Given the description of an element on the screen output the (x, y) to click on. 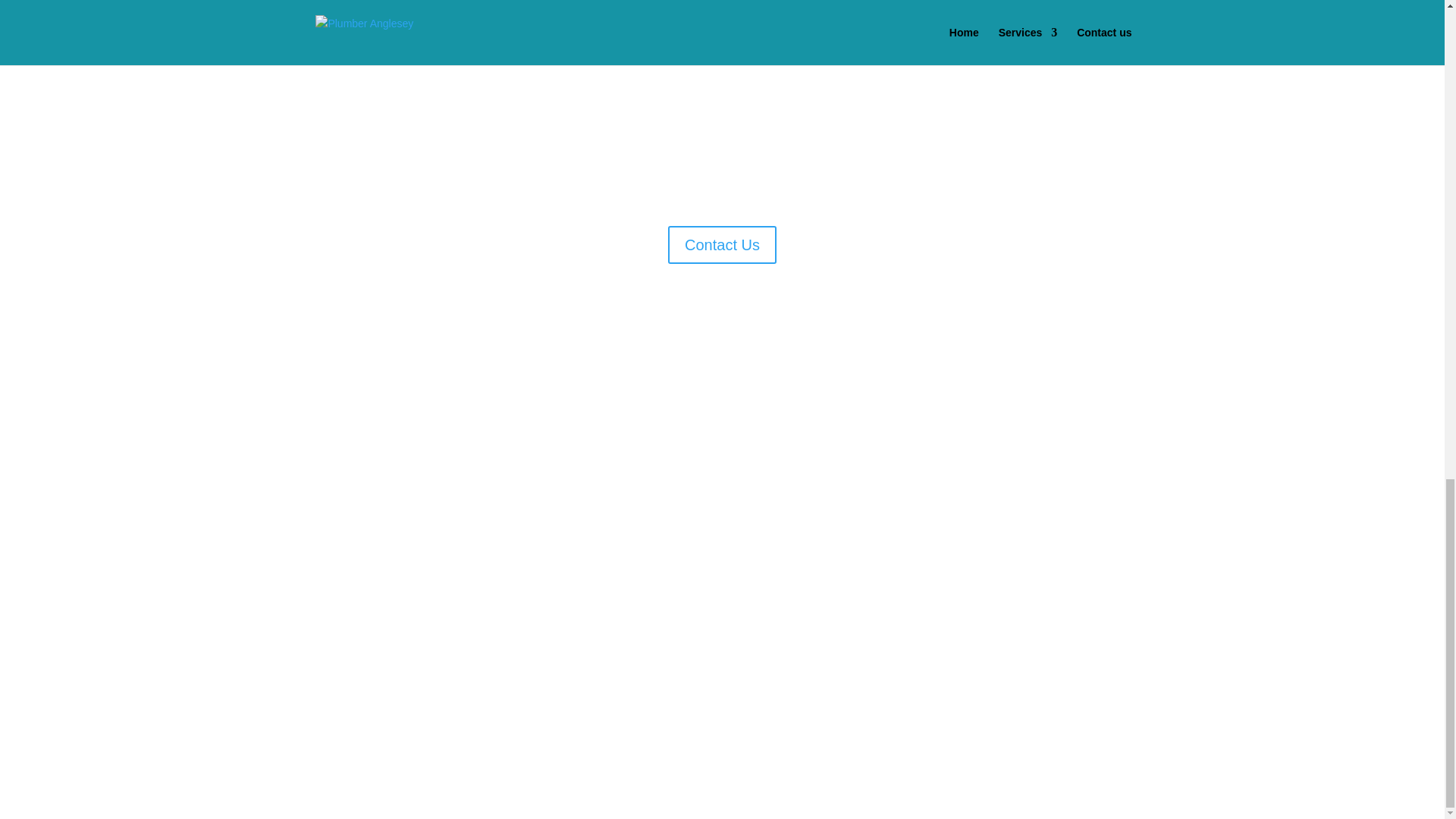
Contact Us (722, 244)
